Given the description of an element on the screen output the (x, y) to click on. 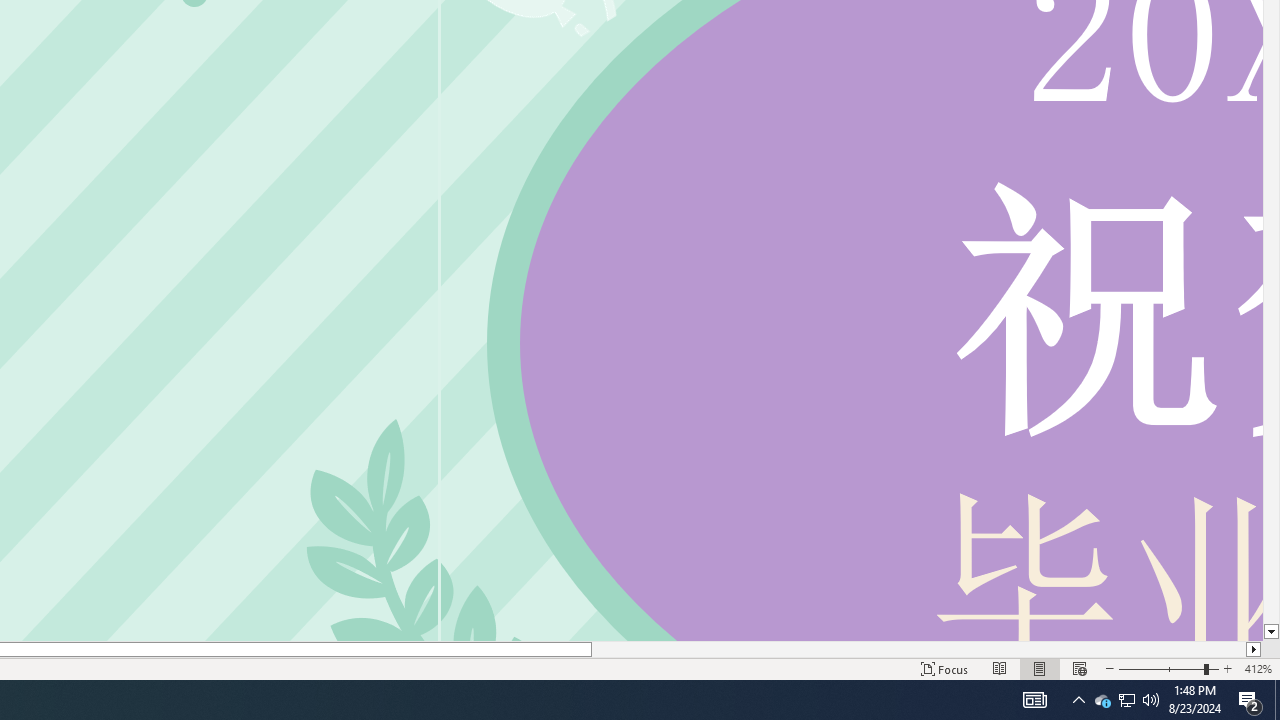
Zoom (1168, 668)
Line down (1271, 632)
Page right (918, 649)
Column right (1254, 649)
